Given the description of an element on the screen output the (x, y) to click on. 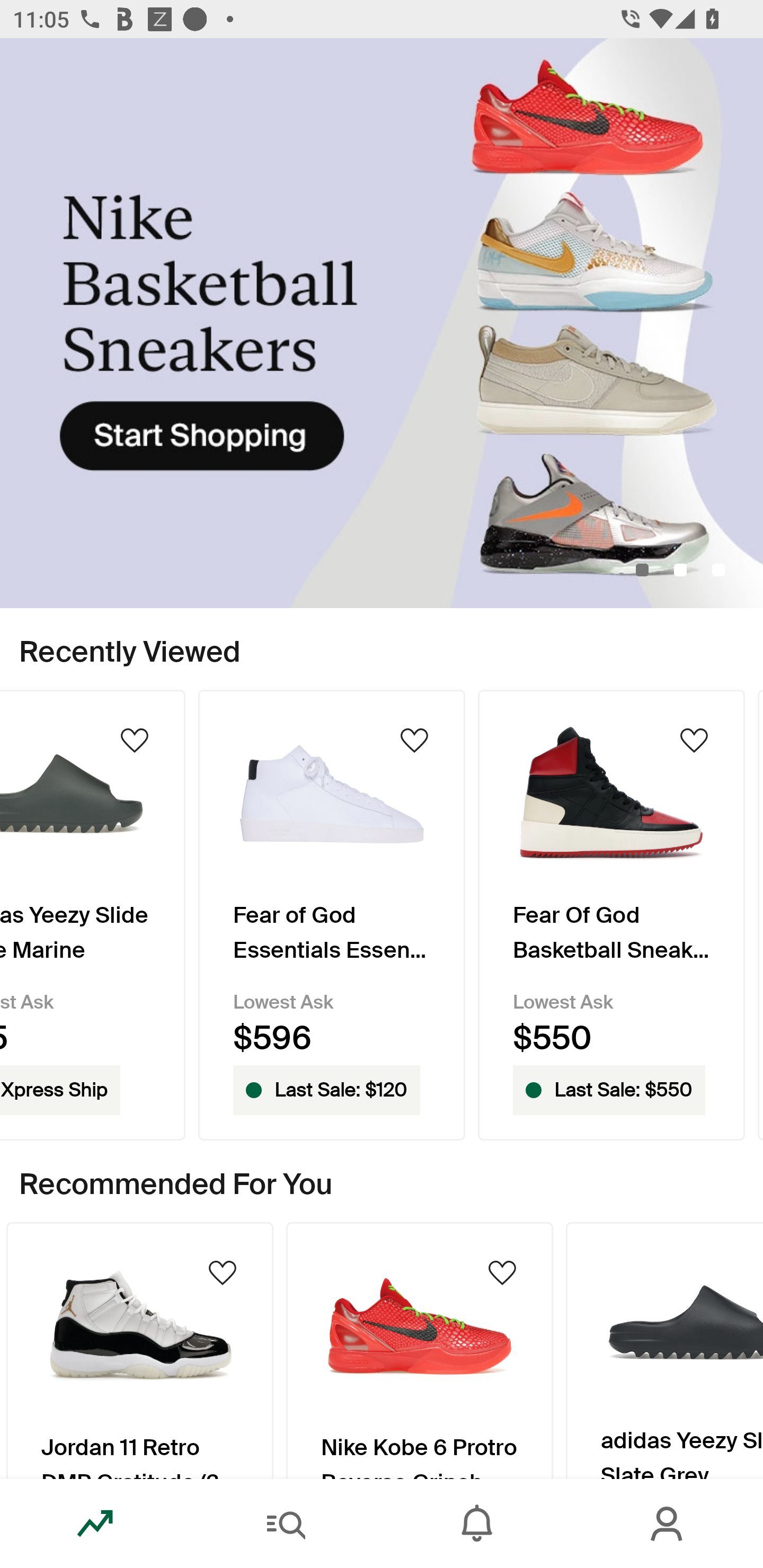
NikeBasketballSprint_Followup_Primary_Mobile.jpg (381, 322)
Product Image Jordan 11 Retro DMP Gratitude (2023) (139, 1349)
Product Image Nike Kobe 6 Protro Reverse Grinch (419, 1349)
Product Image adidas Yeezy Slide Slate Grey (664, 1349)
Search (285, 1523)
Inbox (476, 1523)
Account (667, 1523)
